Given the description of an element on the screen output the (x, y) to click on. 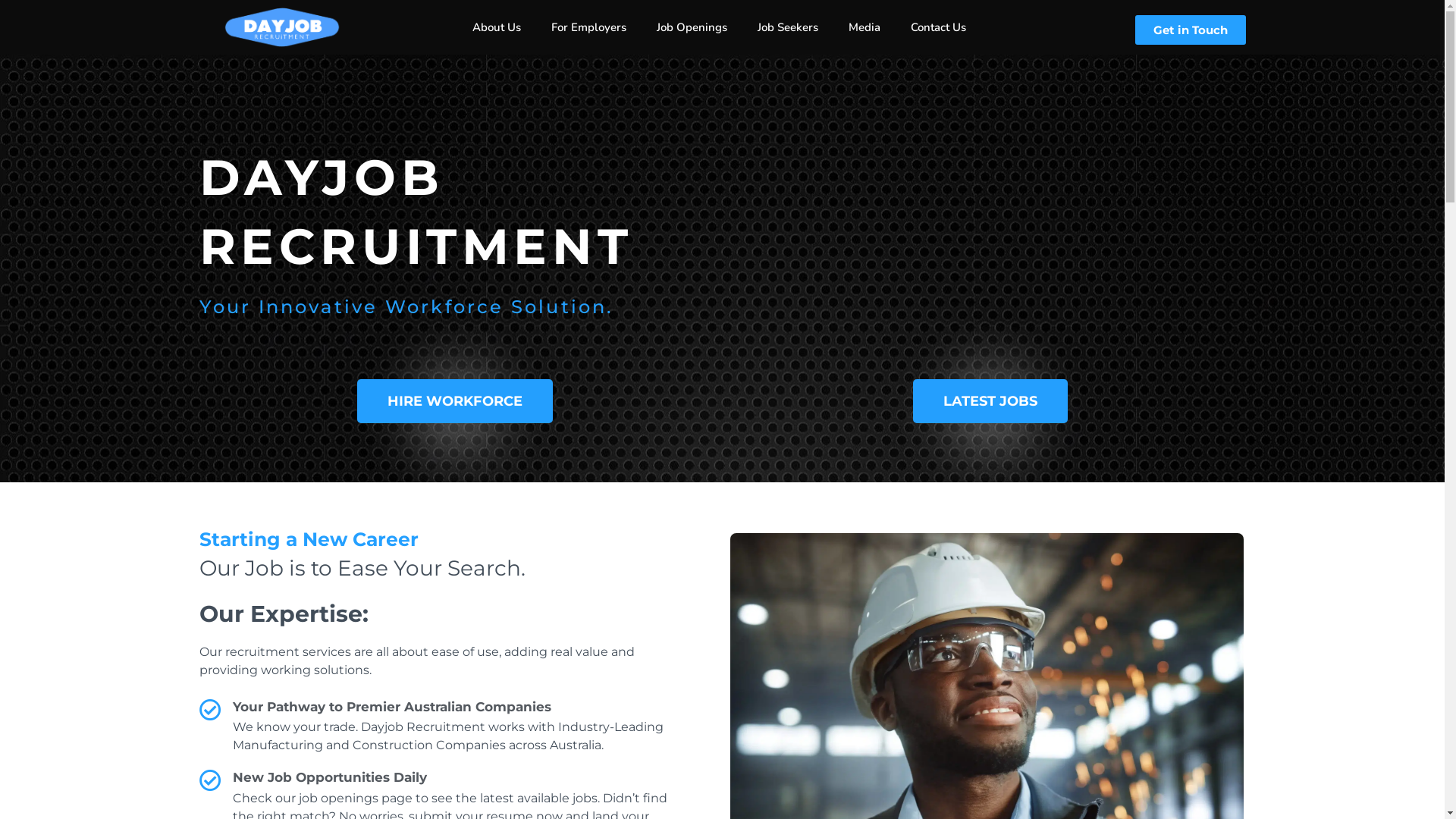
Media Element type: text (864, 26)
LATEST JOBS Element type: text (990, 401)
Job Seekers Element type: text (787, 26)
Job Openings Element type: text (691, 26)
For Employers Element type: text (588, 26)
About Us Element type: text (496, 26)
HIRE WORKFORCE Element type: text (454, 401)
Contact Us Element type: text (938, 26)
Get in Touch Element type: text (1190, 29)
